Given the description of an element on the screen output the (x, y) to click on. 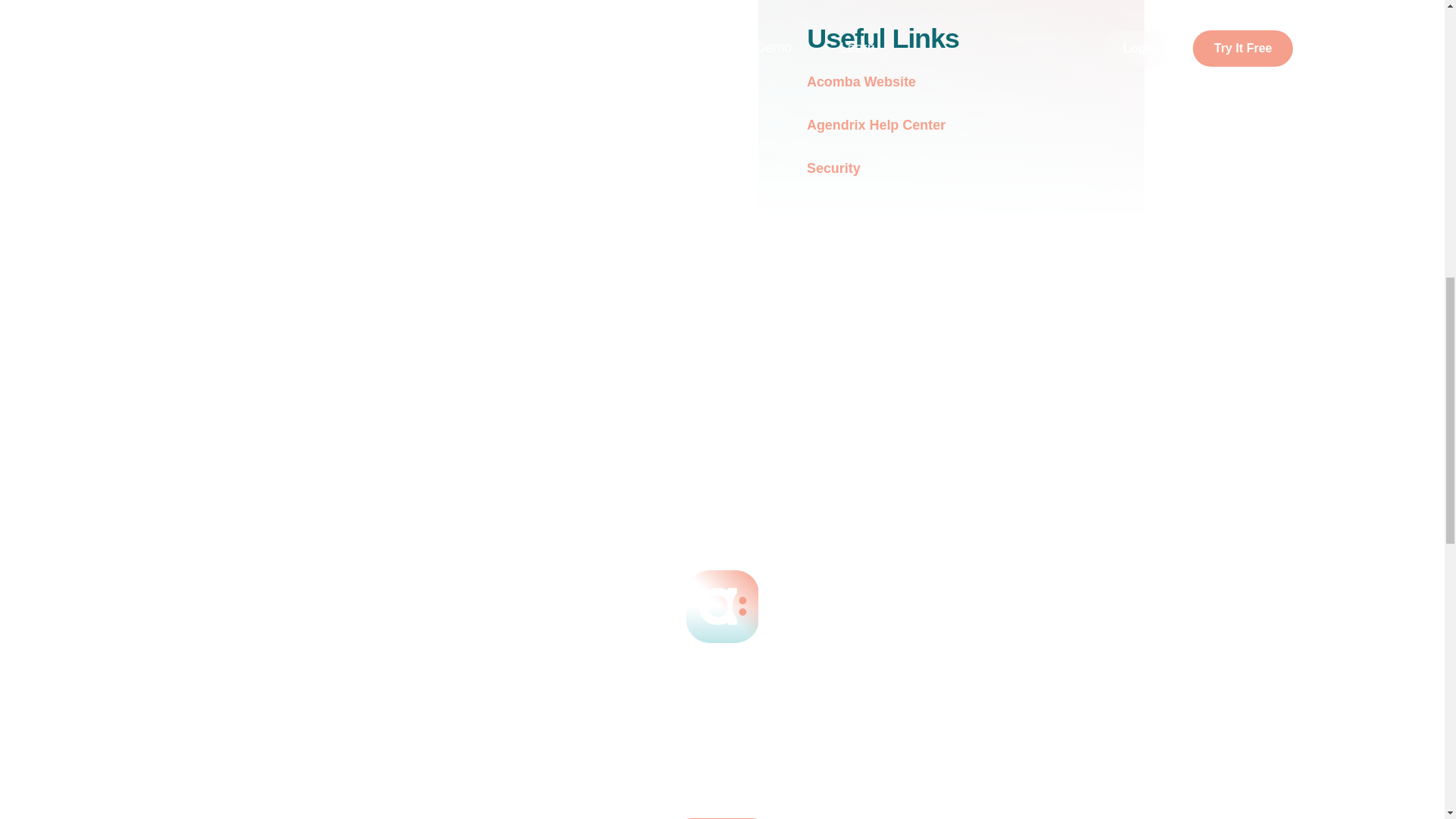
Agendrix Help Center (886, 125)
Security (843, 168)
Acomba Website (871, 81)
